Given the description of an element on the screen output the (x, y) to click on. 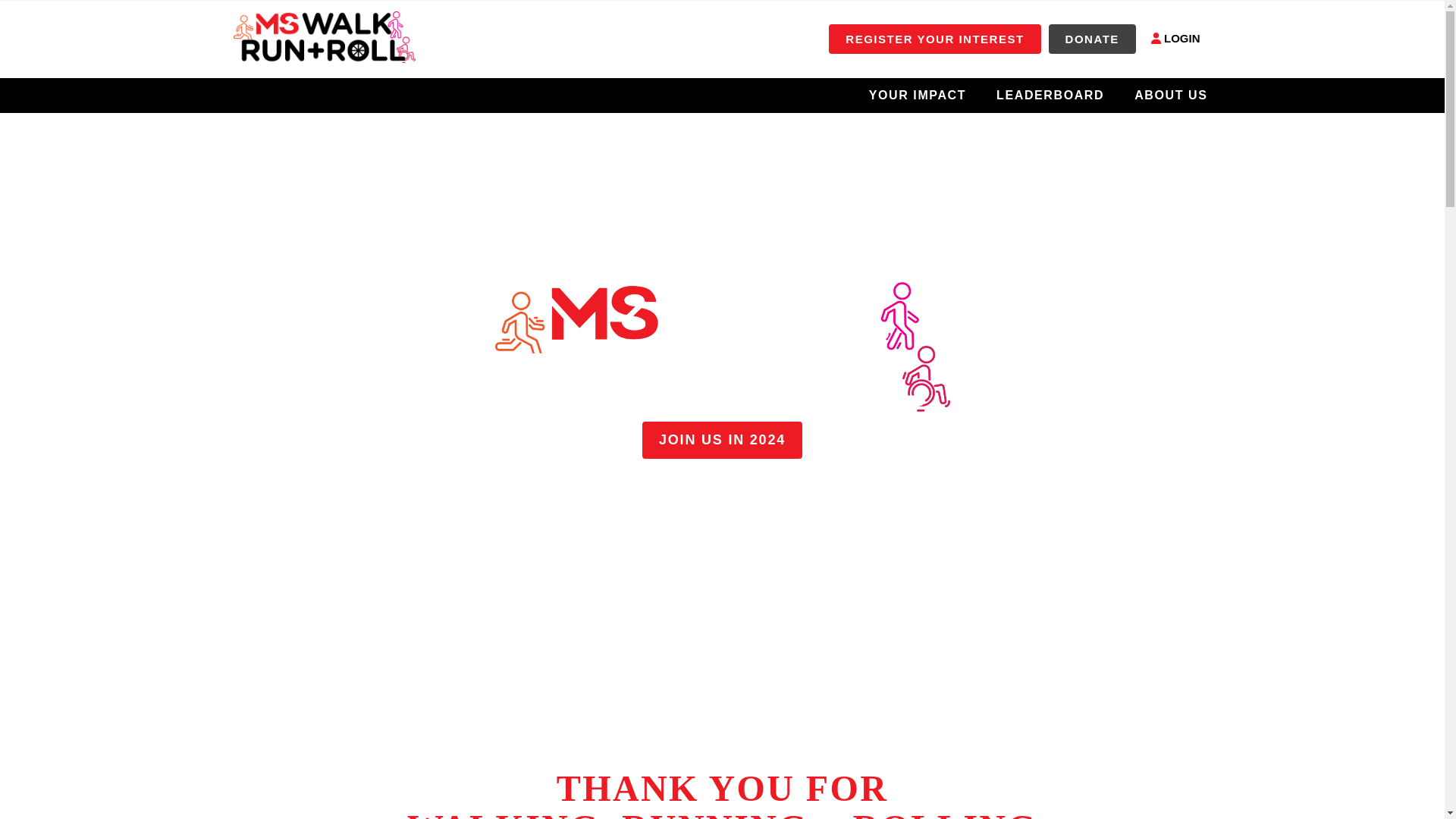
LEADERBOARD Element type: text (1050, 94)
LOGIN Element type: text (1175, 38)
ABOUT US Element type: text (1170, 94)
REGISTER YOUR INTEREST Element type: text (934, 38)
YOUR IMPACT Element type: text (917, 94)
JOIN US IN 2024 Element type: text (722, 439)
DONATE Element type: text (1091, 38)
